Given the description of an element on the screen output the (x, y) to click on. 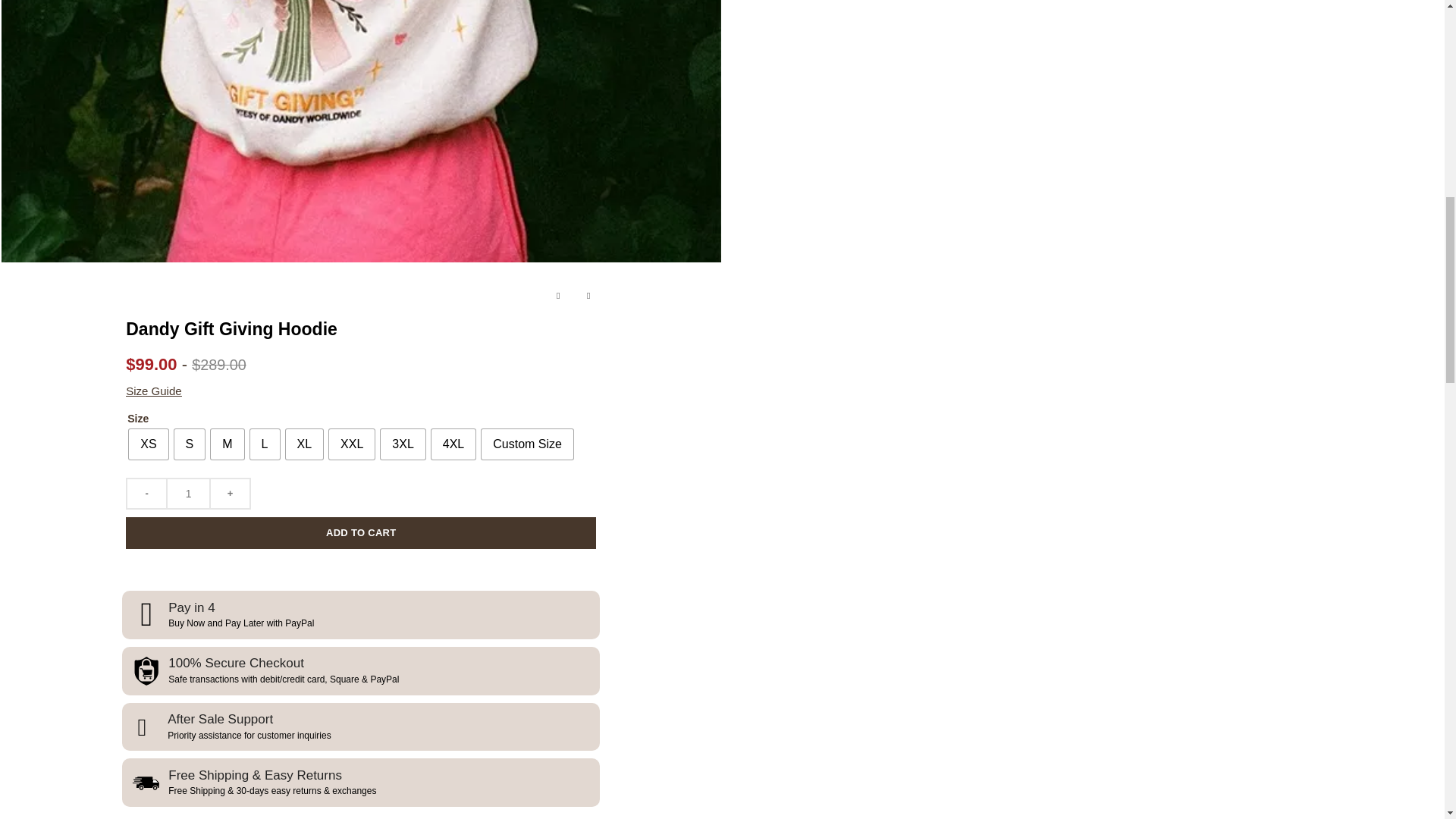
- (146, 493)
S (189, 444)
XS (148, 444)
1 (188, 493)
